Given the description of an element on the screen output the (x, y) to click on. 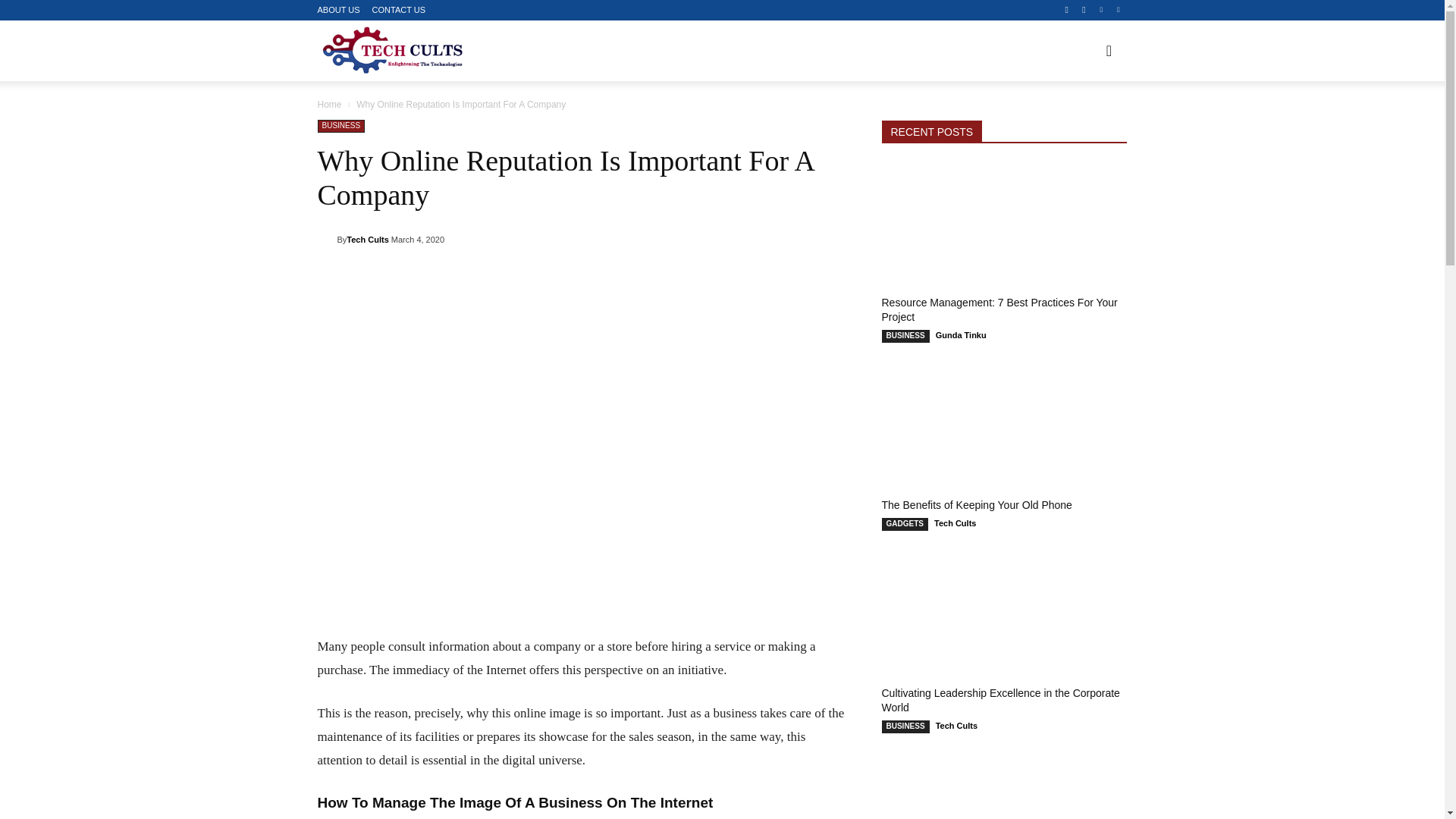
ABOUT US (338, 9)
CONTACT US (399, 9)
